Given the description of an element on the screen output the (x, y) to click on. 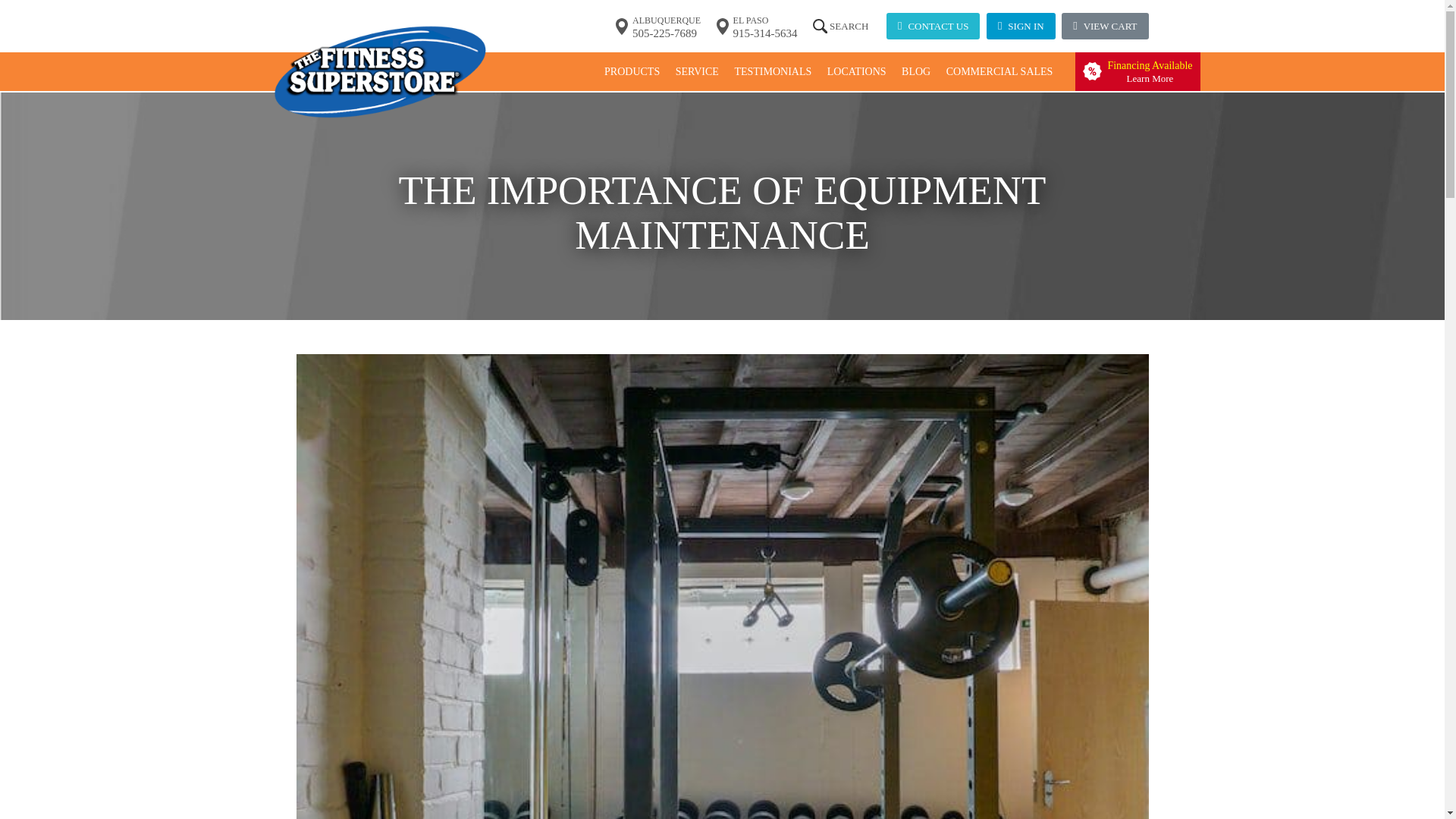
PRODUCTS (631, 71)
505-225-7689 (664, 33)
LOCATIONS (856, 71)
COMMERCIAL SALES (999, 71)
TESTIMONIALS (772, 71)
BLOG (915, 71)
SIGN IN (1021, 26)
SERVICE (697, 71)
VIEW CART (1104, 26)
CONTACT US (932, 26)
SEARCH (837, 26)
915-314-5634 (1137, 71)
